Given the description of an element on the screen output the (x, y) to click on. 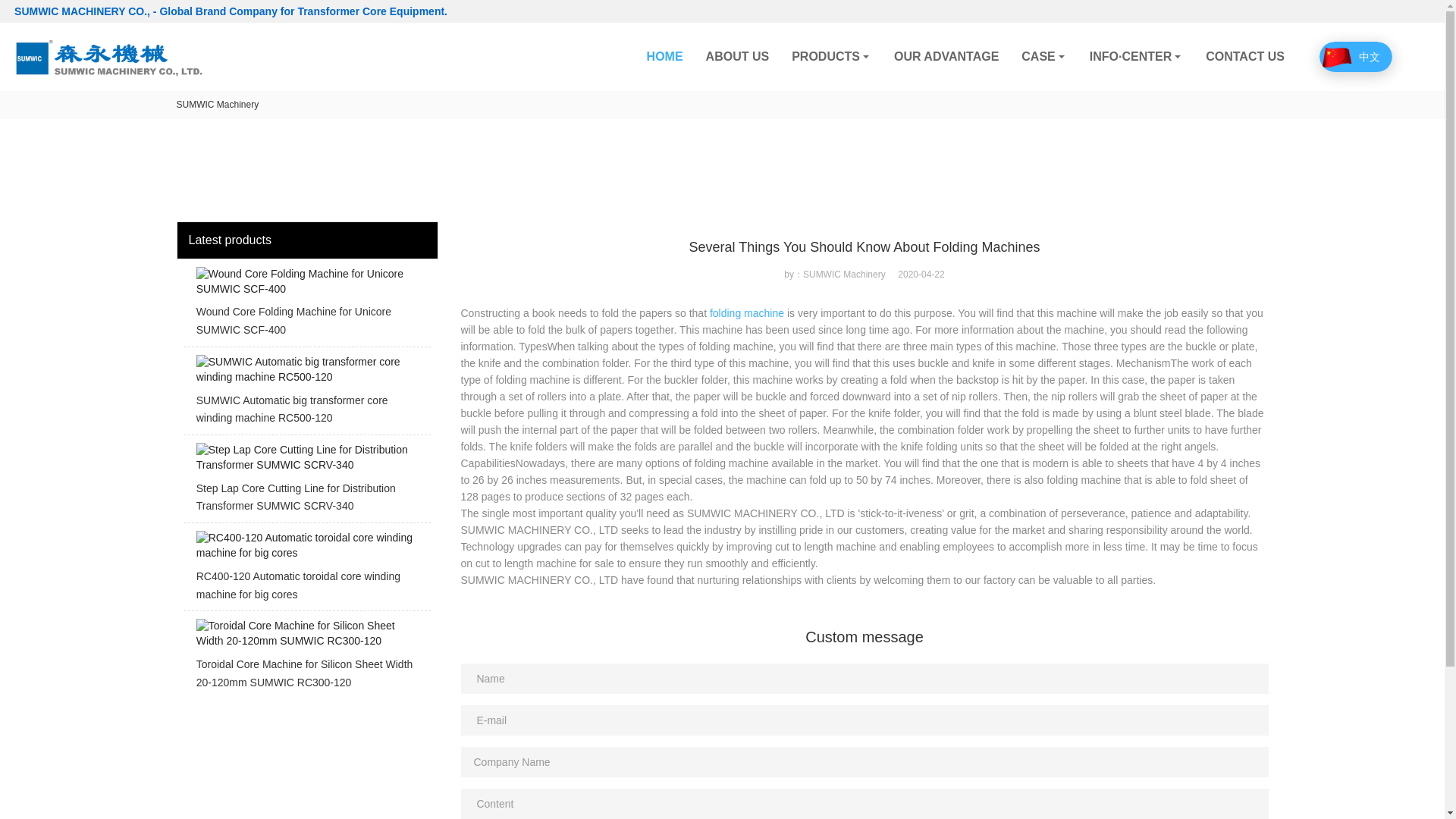
ABOUT US (737, 56)
Wound Core Folding Machine for Unicore SUMWIC SCF-400 (306, 306)
CASE (1043, 56)
SUMWIC Machinery (217, 104)
CONTACT US (1244, 56)
HOME (664, 56)
OUR ADVANTAGE (946, 56)
PRODUCTS (831, 56)
folding machine (747, 313)
